Given the description of an element on the screen output the (x, y) to click on. 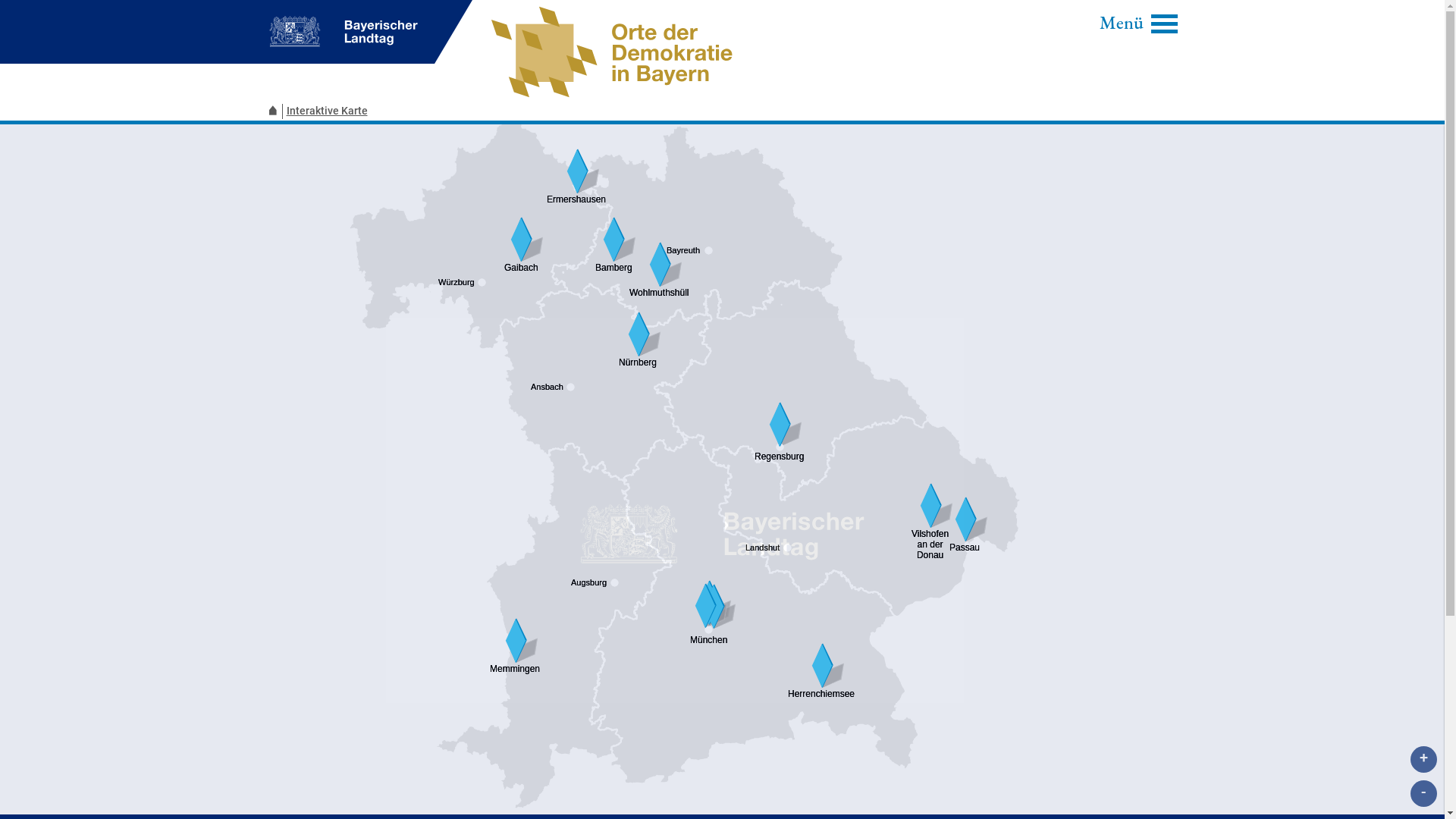
+ Element type: text (1423, 759)
Interaktive Karte Element type: text (328, 110)
- Element type: text (1423, 793)
